Given the description of an element on the screen output the (x, y) to click on. 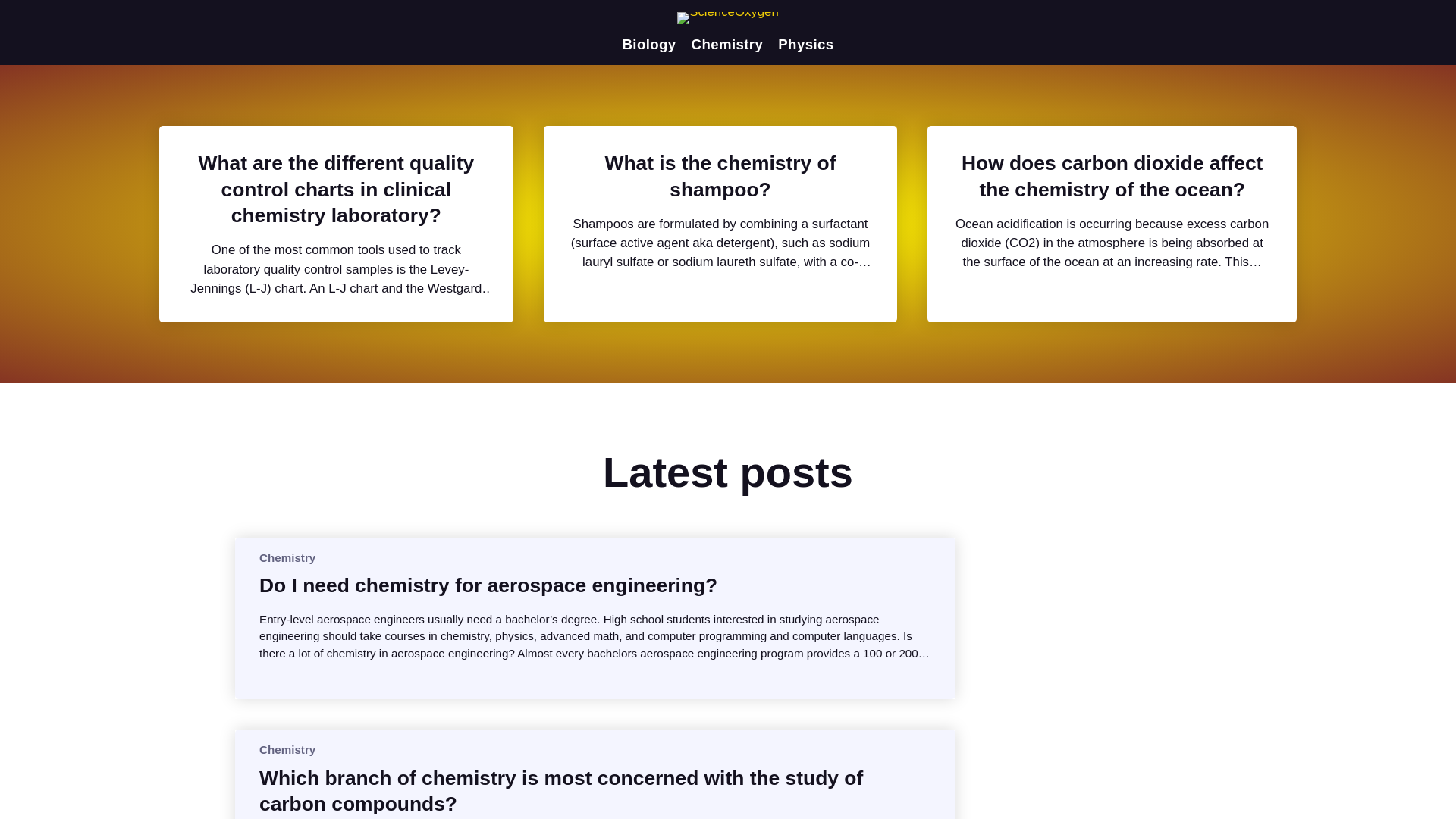
Do I need chemistry for aerospace engineering? (488, 585)
Chemistry (287, 748)
Chemistry (726, 44)
What is the chemistry of shampoo? (720, 175)
Biology (648, 44)
Physics (804, 44)
How does carbon dioxide affect the chemistry of the ocean? (1112, 175)
Chemistry (287, 556)
